Given the description of an element on the screen output the (x, y) to click on. 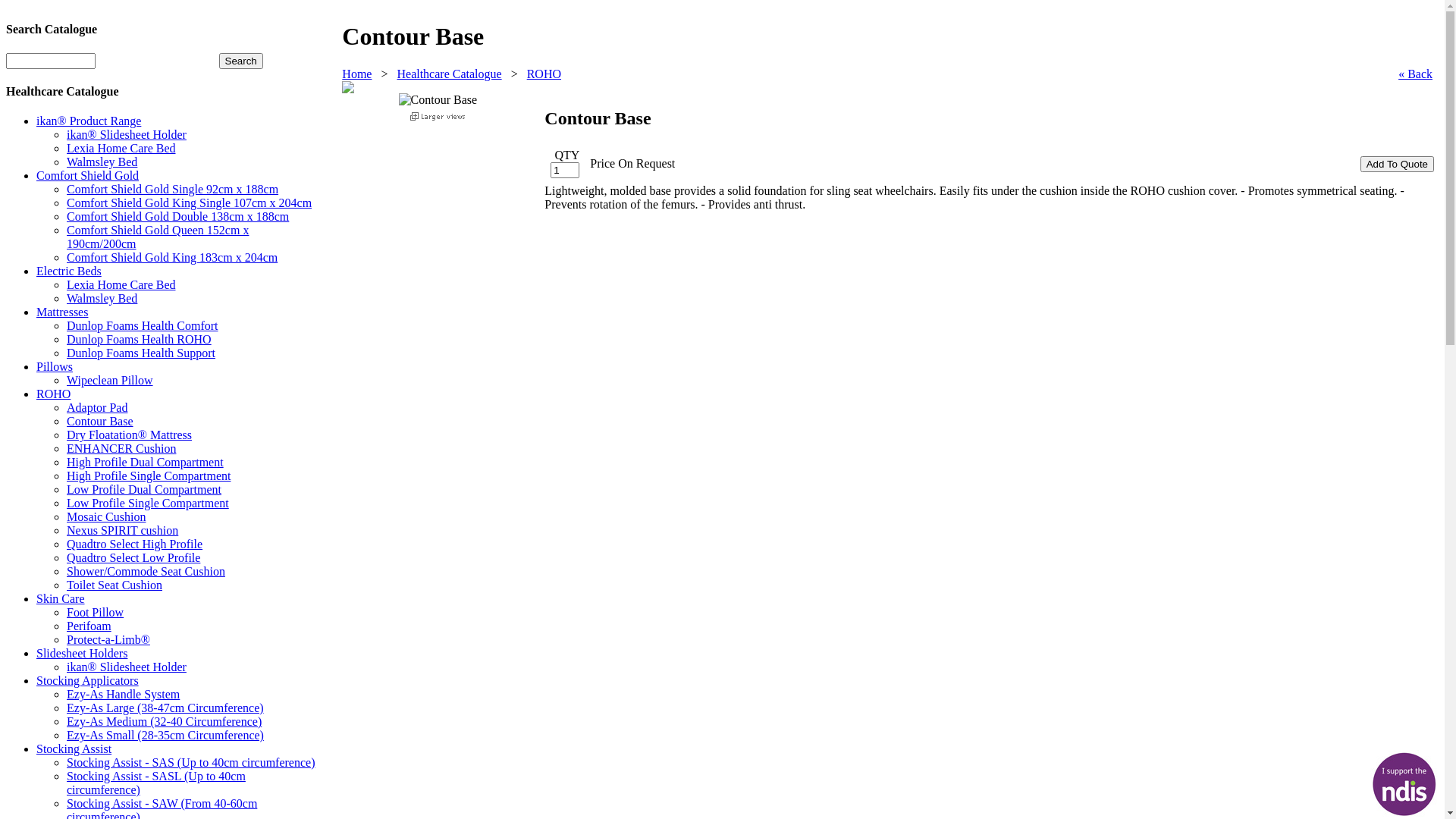
Wipeclean Pillow Element type: text (109, 379)
Quadtro Select Low Profile Element type: text (133, 557)
Skin Care Element type: text (60, 598)
Comfort Shield Gold Single 92cm x 188cm Element type: text (172, 188)
Low Profile Dual Compartment Element type: text (143, 489)
Shower/Commode Seat Cushion Element type: text (145, 570)
Mosaic Cushion Element type: text (105, 516)
Stocking Assist Element type: text (73, 748)
Electric Beds Element type: text (68, 270)
Comfort Shield Gold Queen 152cm x 190cm/200cm Element type: text (157, 236)
Walmsley Bed Element type: text (101, 297)
High Profile Single Compartment Element type: text (148, 475)
Search Element type: text (241, 61)
Contour Base Element type: text (99, 420)
Quadtro Select High Profile Element type: text (134, 543)
Comfort Shield Gold King 183cm x 204cm Element type: text (171, 257)
Ezy-As Large (38-47cm Circumference) Element type: text (164, 707)
Toilet Seat Cushion Element type: text (114, 584)
Mattresses Element type: text (61, 311)
Lexia Home Care Bed Element type: text (120, 284)
Adaptor Pad Element type: text (96, 407)
Ezy-As Medium (32-40 Circumference) Element type: text (163, 721)
Nexus SPIRIT cushion Element type: text (122, 530)
Dunlop Foams Health ROHO Element type: text (138, 338)
Home Element type: text (356, 73)
Stocking Applicators Element type: text (87, 680)
Perifoam Element type: text (88, 625)
Comfort Shield Gold Element type: text (87, 175)
Healthcare Catalogue Element type: text (448, 73)
Lexia Home Care Bed Element type: text (120, 147)
ENHANCER Cushion Element type: text (120, 448)
Pillows Element type: text (54, 366)
Dunlop Foams Health Support Element type: text (140, 352)
Low Profile Single Compartment Element type: text (147, 502)
Comfort Shield Gold Double 138cm x 188cm Element type: text (177, 216)
Dunlop Foams Health Comfort Element type: text (142, 325)
Add To Quote Element type: text (1397, 164)
Ezy-As Small (28-35cm Circumference) Element type: text (164, 734)
Ezy-As Handle System Element type: text (122, 693)
High Profile Dual Compartment Element type: text (144, 461)
ROHO Element type: text (544, 73)
Comfort Shield Gold King Single 107cm x 204cm Element type: text (188, 202)
ROHO Element type: text (53, 393)
Foot Pillow Element type: text (94, 611)
Stocking Assist - SAS (Up to 40cm circumference) Element type: text (190, 762)
Slidesheet Holders Element type: text (81, 652)
Stocking Assist - SASL (Up to 40cm circumference) Element type: text (155, 782)
Walmsley Bed Element type: text (101, 161)
